Given the description of an element on the screen output the (x, y) to click on. 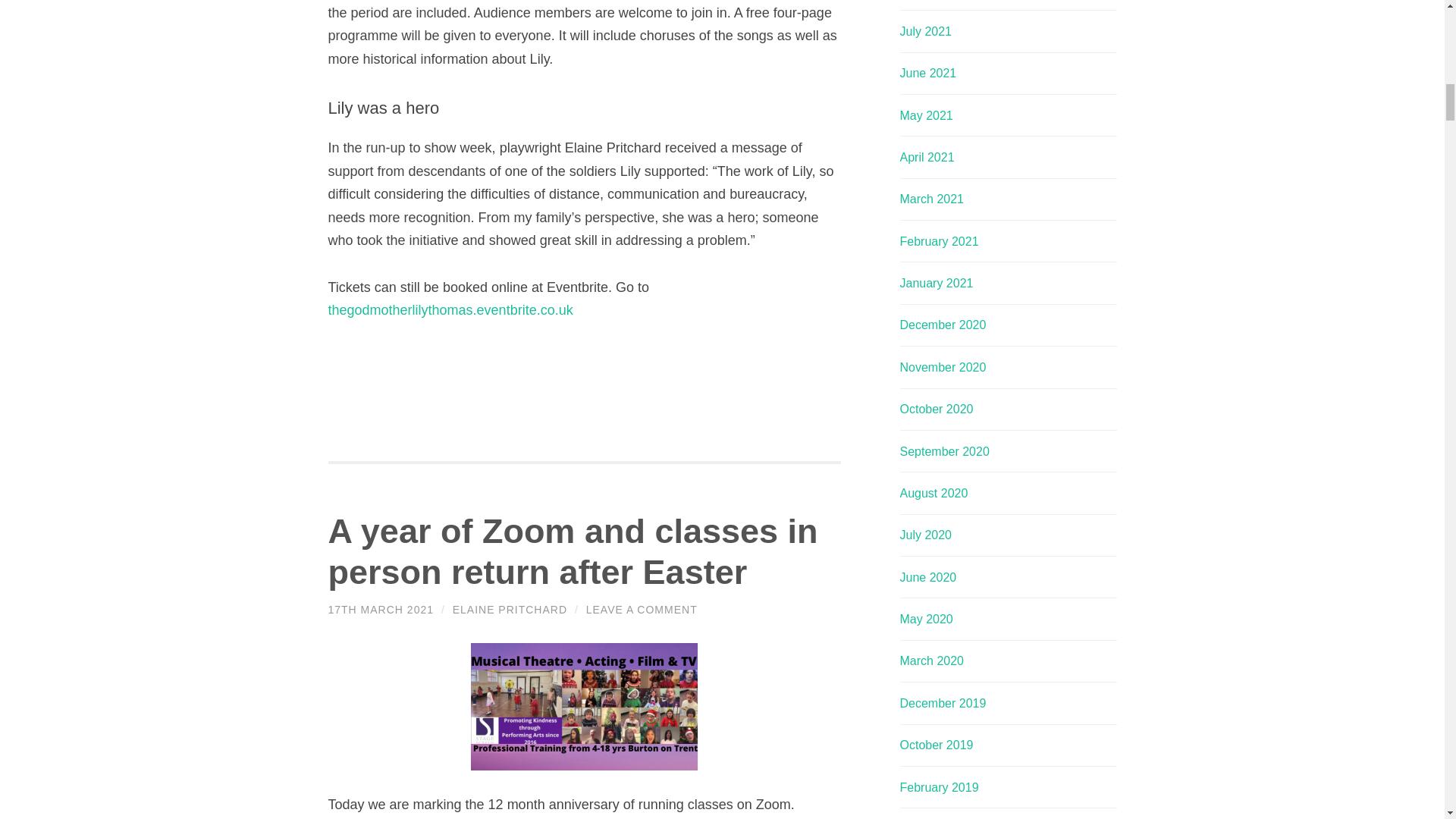
LEAVE A COMMENT (641, 609)
17TH MARCH 2021 (380, 609)
thegodmotherlilythomas.eventbrite.co.uk  (451, 309)
ELAINE PRITCHARD (509, 609)
A year of Zoom and classes in person return after Easter (571, 551)
